Given the description of an element on the screen output the (x, y) to click on. 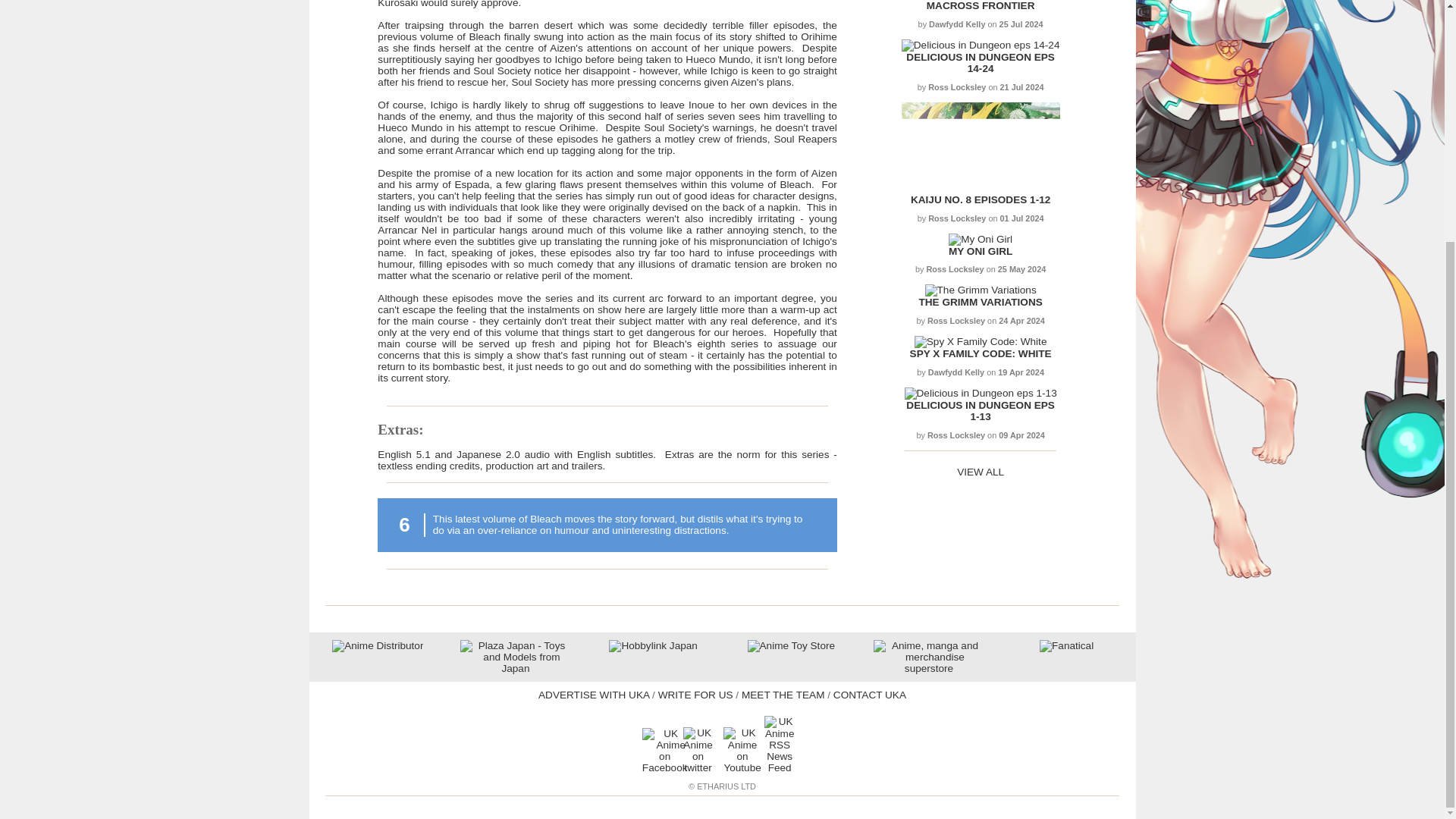
ADVERTISE WITH UKA (593, 695)
Kaiju No. 8 Episodes 1-12 (980, 188)
VIEW ALL (980, 471)
Kaiju No. 8 Episodes 1-12 (980, 199)
Spy X Family Code: White (980, 341)
Delicious in Dungeon eps 14-24 (979, 62)
MY ONI GIRL (980, 251)
DELICIOUS IN DUNGEON EPS 14-24 (979, 62)
Macross Frontier (980, 5)
DELICIOUS IN DUNGEON EPS 1-13 (979, 410)
